Given the description of an element on the screen output the (x, y) to click on. 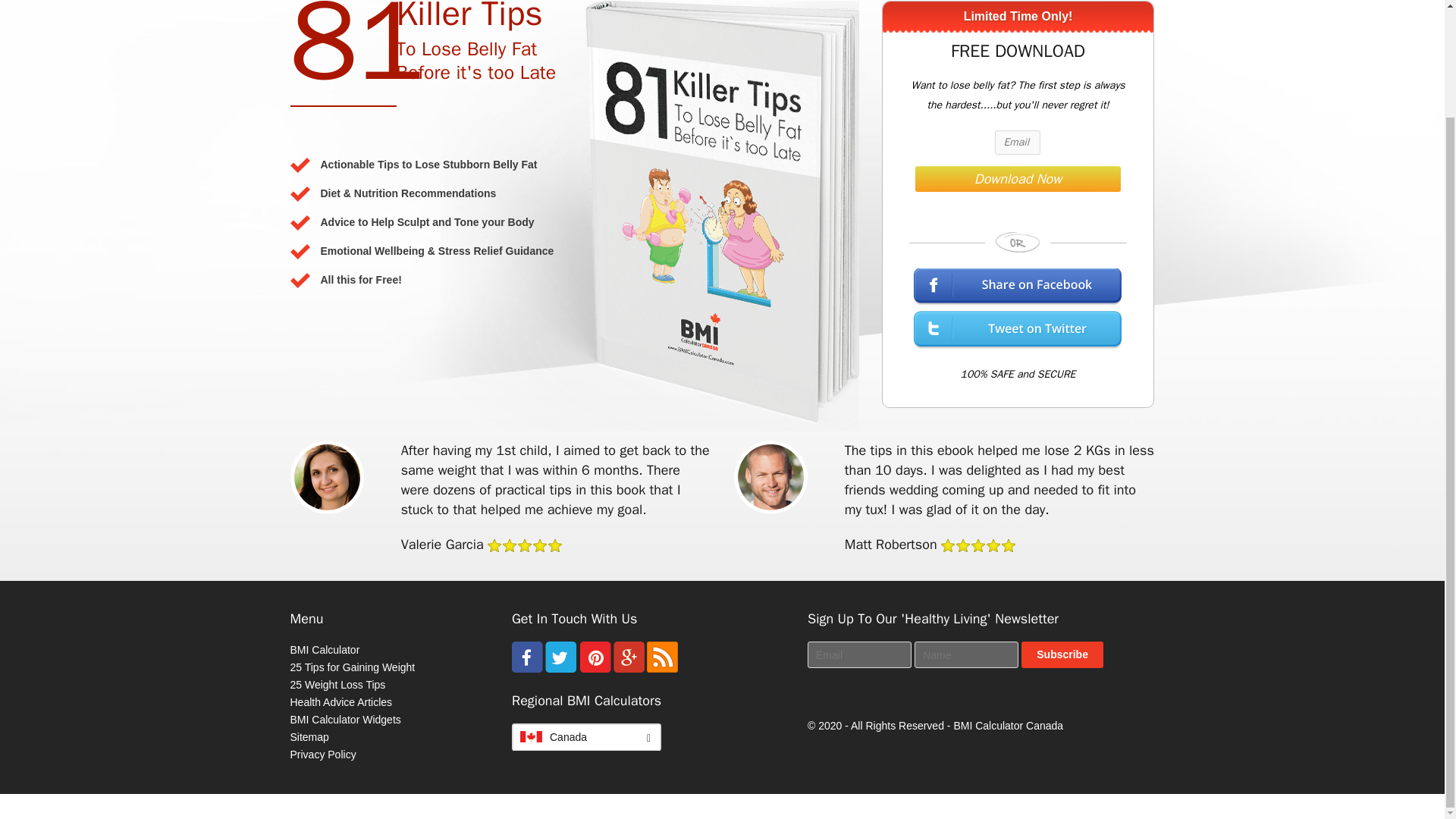
rss (662, 668)
25 Tips for Gaining Weight (351, 666)
Download Now (1018, 178)
25 Weight Loss Tips (337, 684)
Weight Gain Tips (351, 666)
facbook (527, 668)
google (628, 668)
BMI Calculator (324, 649)
Weight Loss Tips (337, 684)
Free BMI Calculator Widgets (344, 719)
Weight Management Articles (340, 702)
Sitemap (309, 736)
BMI Calculator Canada (1007, 725)
Subscribe (1062, 654)
Canada (586, 737)
